Given the description of an element on the screen output the (x, y) to click on. 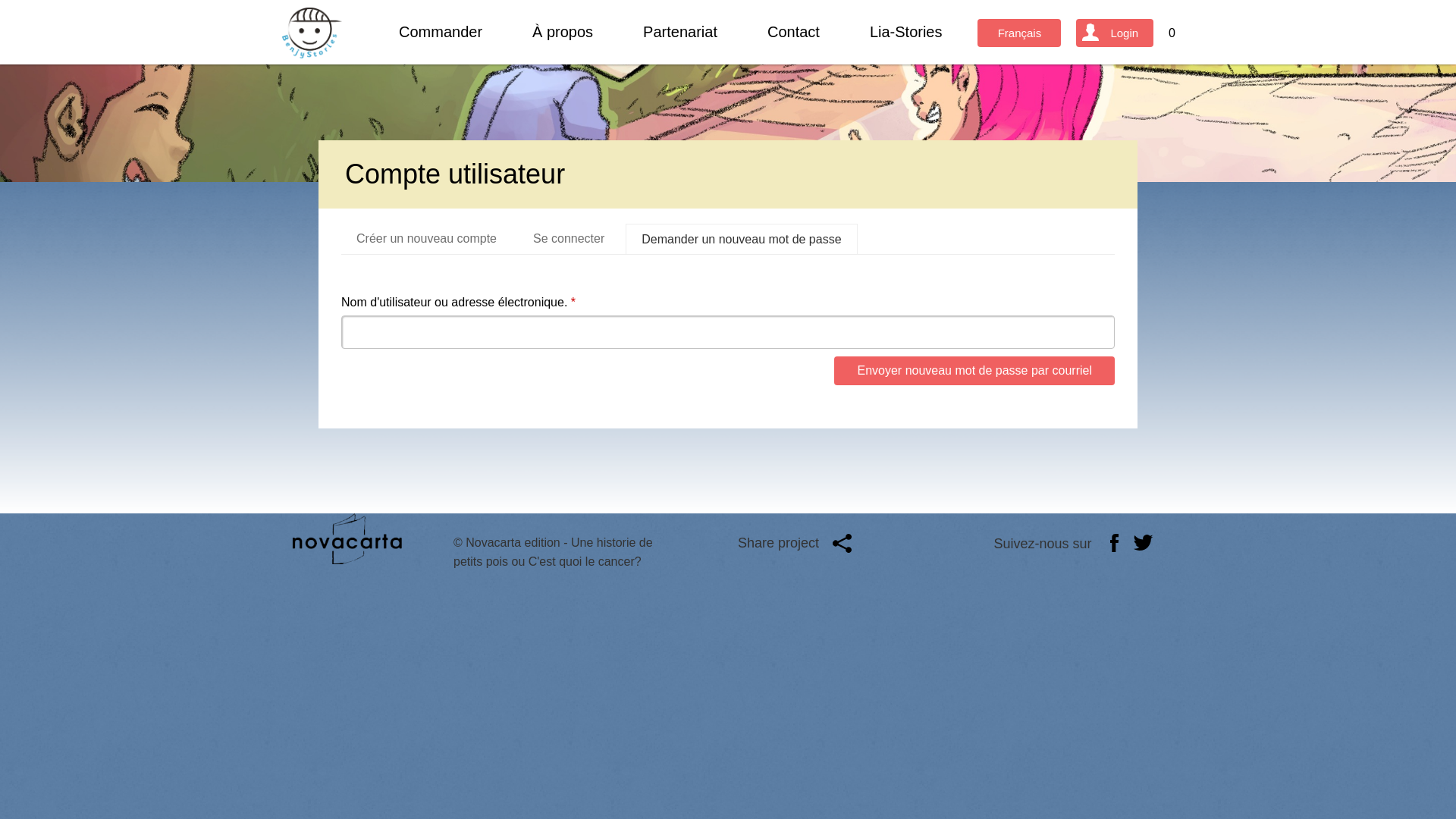
Accueil Element type: text (311, 32)
Se connecter Element type: text (568, 238)
facebook Element type: text (1114, 542)
Commander Element type: text (440, 32)
Lia-Stories Element type: text (905, 32)
Demander un nouveau mot de passe
(onglet actif) Element type: text (740, 238)
twitter Element type: text (1142, 542)
Login Element type: text (1114, 32)
Envoyer nouveau mot de passe par courriel Element type: text (974, 370)
Contact Element type: text (793, 32)
